Given the description of an element on the screen output the (x, y) to click on. 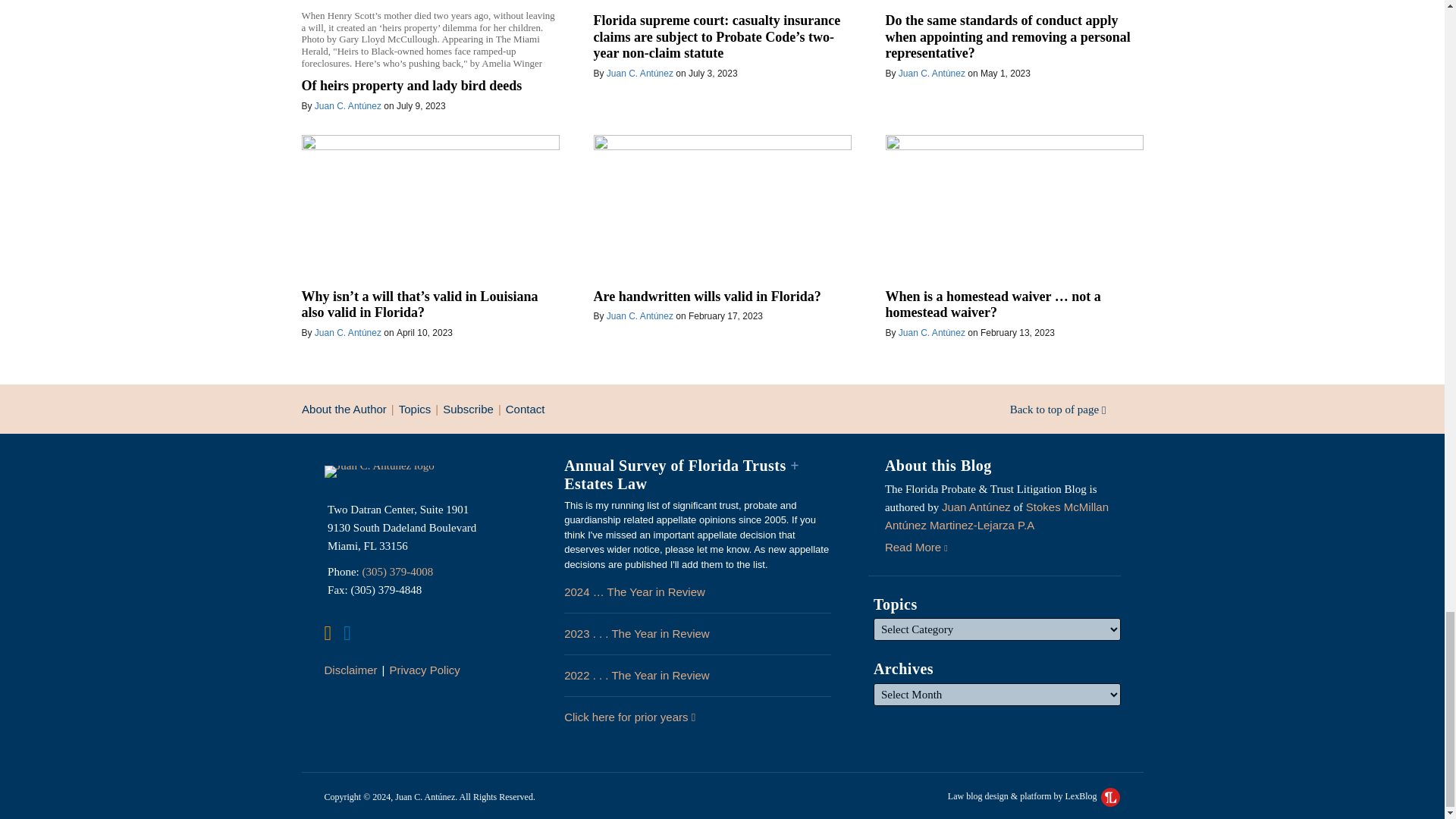
LexBlog Logo (1109, 796)
